Given the description of an element on the screen output the (x, y) to click on. 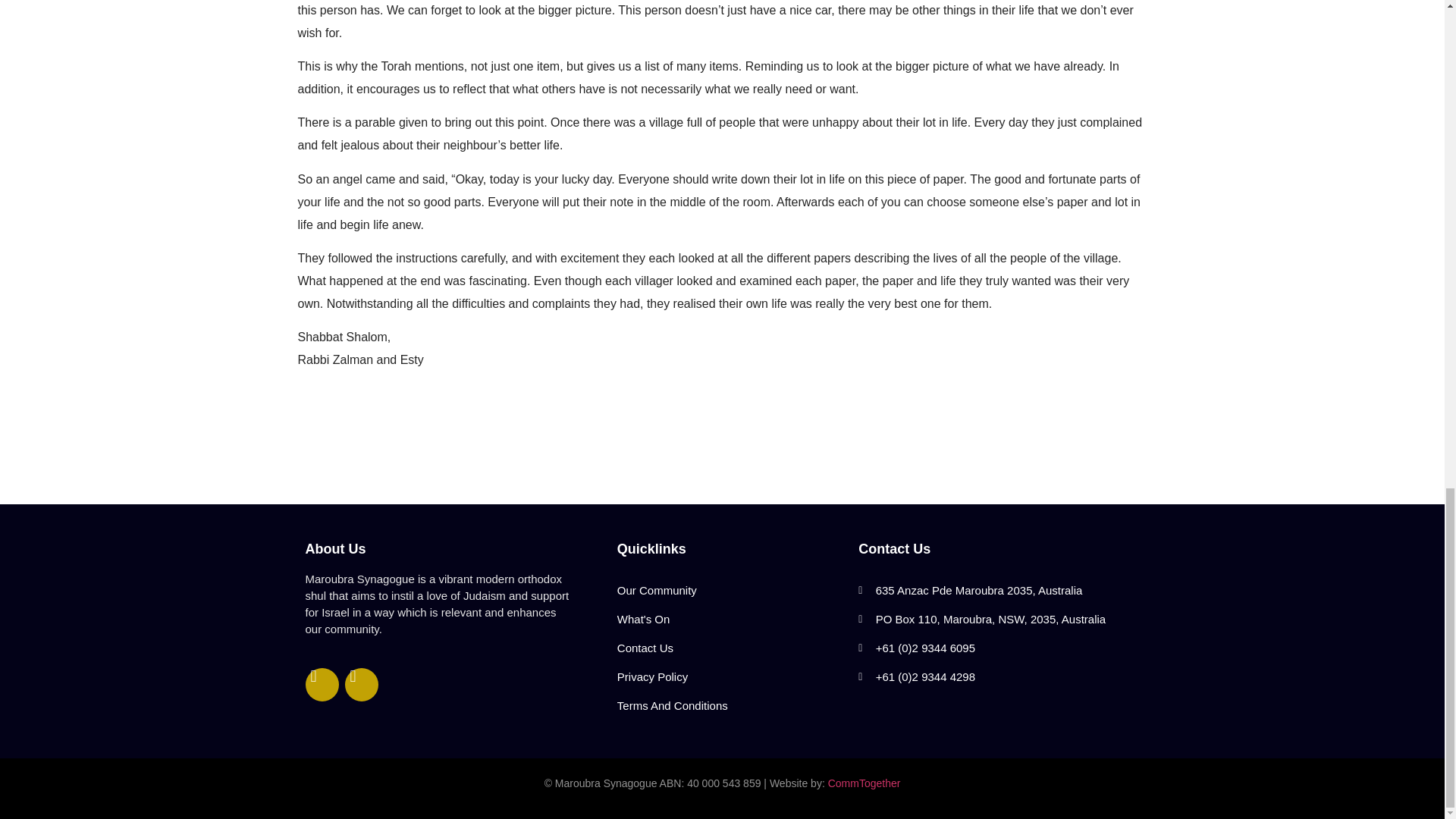
Privacy Policy (730, 676)
What'S On (730, 619)
Our Community (730, 590)
Contact Us (730, 647)
Terms And Conditions (730, 705)
